Given the description of an element on the screen output the (x, y) to click on. 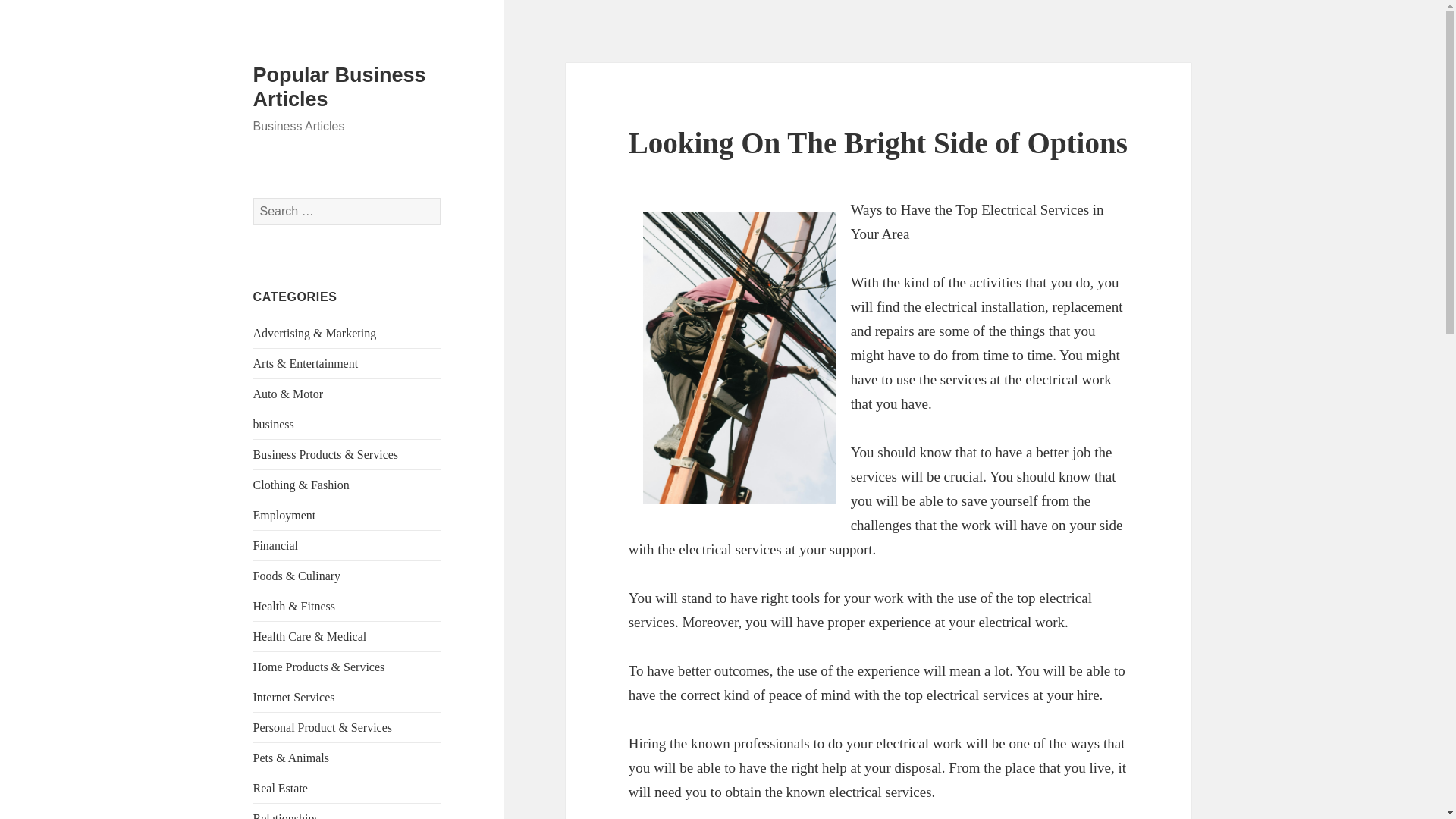
Real Estate (280, 788)
Popular Business Articles (339, 86)
Relationships (285, 815)
Internet Services (293, 697)
business (273, 423)
Financial (275, 545)
Employment (284, 514)
